Given the description of an element on the screen output the (x, y) to click on. 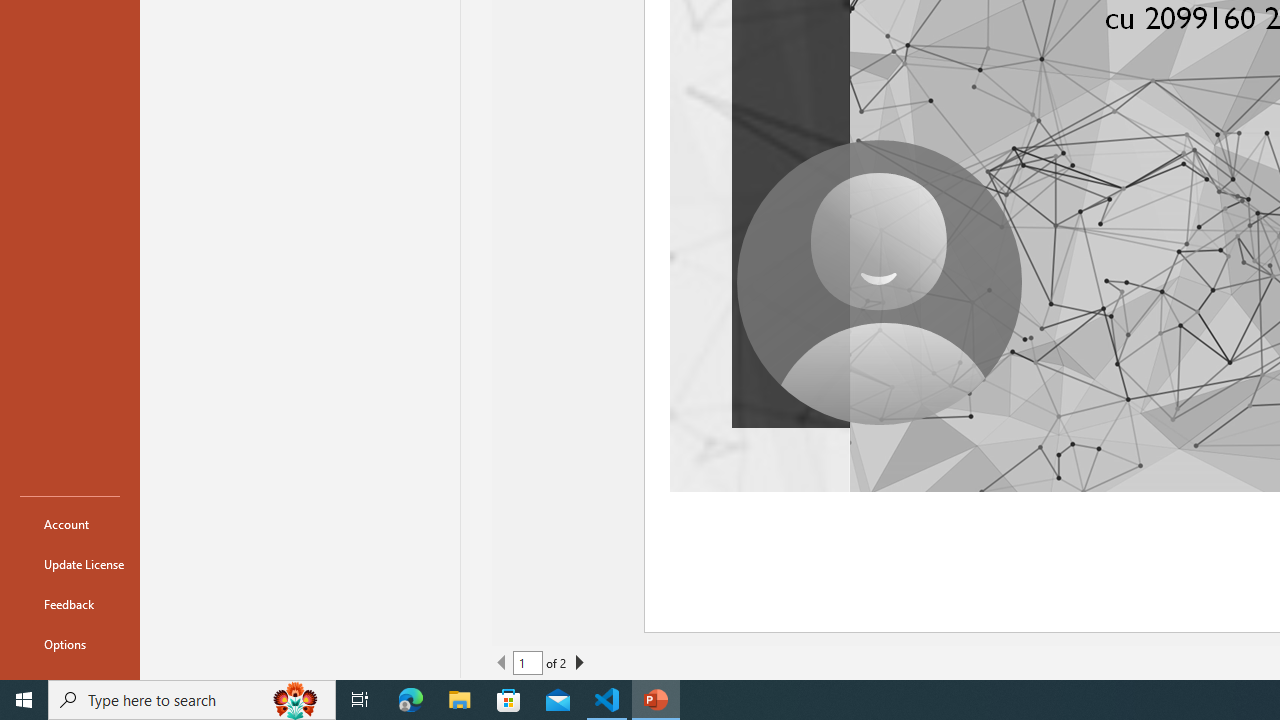
Account (69, 523)
Update License (69, 563)
Feedback (69, 603)
Next Page (579, 662)
Previous Page (502, 662)
Current Page (527, 662)
Options (69, 643)
